Given the description of an element on the screen output the (x, y) to click on. 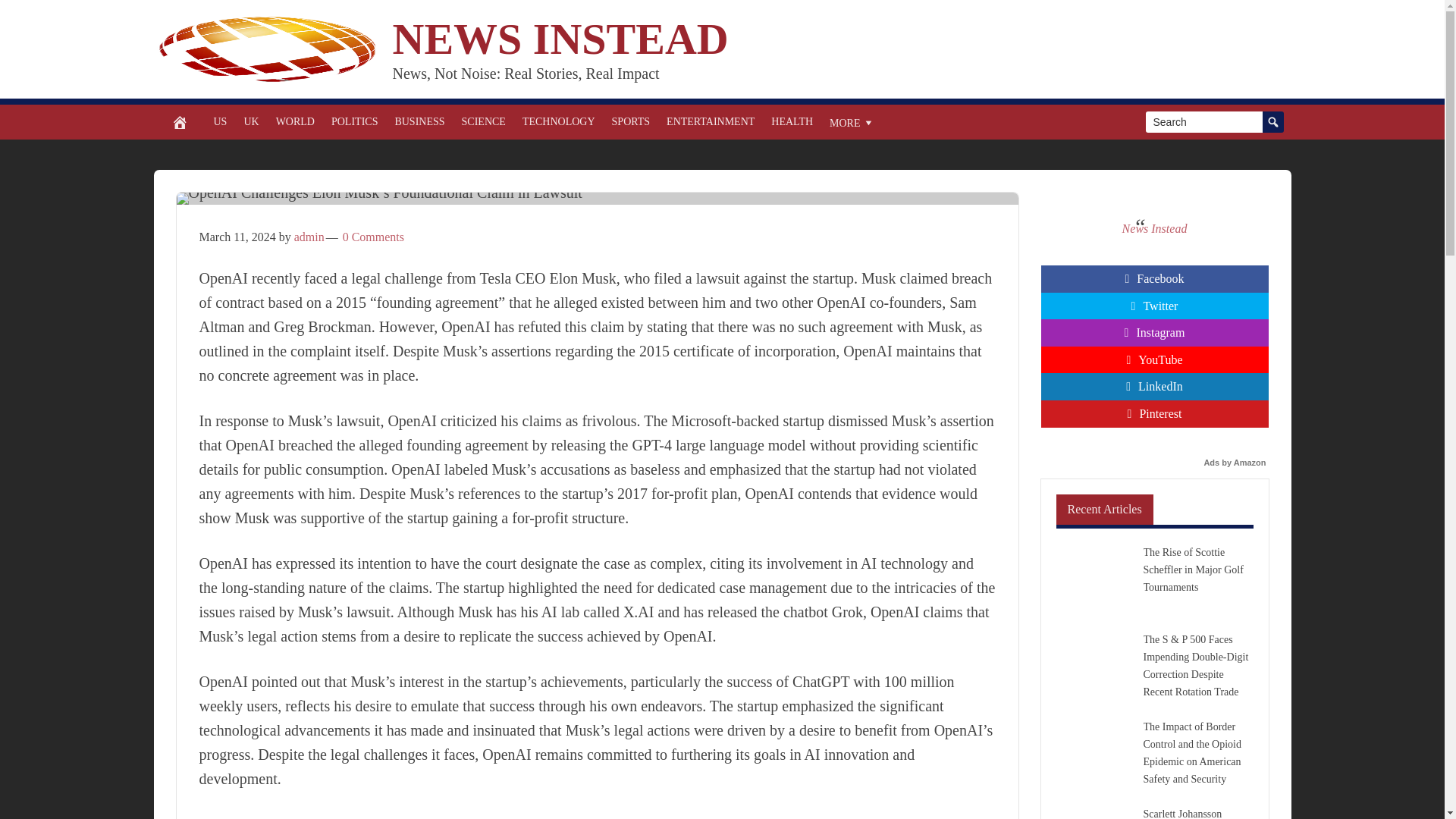
UK (250, 121)
MORE (851, 121)
HEALTH (791, 121)
BUSINESS (418, 121)
SPORTS (631, 121)
POLITICS (354, 121)
TECHNOLOGY (558, 121)
ENTERTAINMENT (710, 121)
NEWS INSTEAD (561, 38)
SCIENCE (482, 121)
WORLD (295, 121)
